Given the description of an element on the screen output the (x, y) to click on. 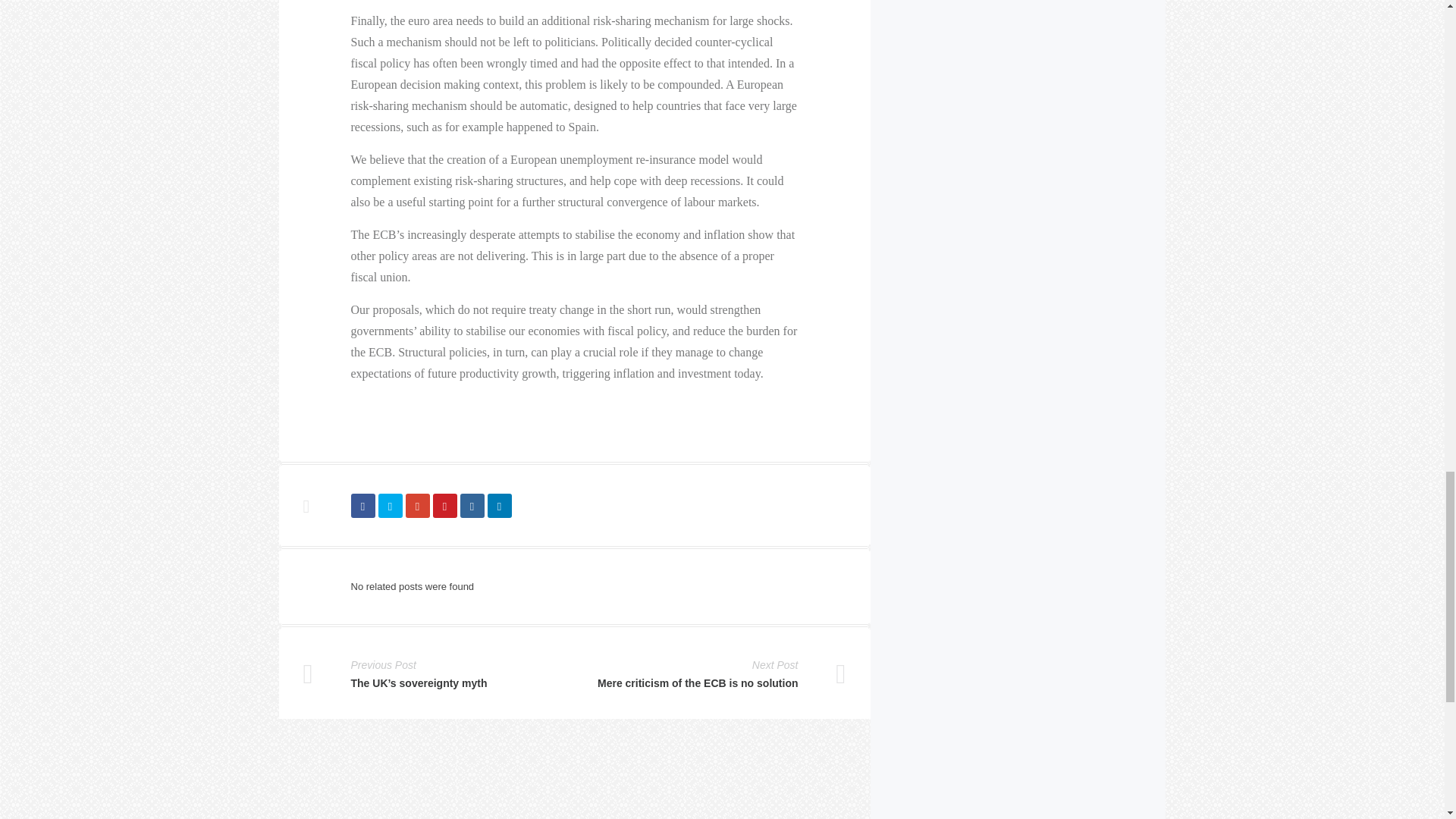
Mere criticism of the ECB is no solution (696, 683)
Share on Pinterest (444, 505)
Share on Reddit (471, 505)
Share on Facebook (362, 505)
Share on Linkedin (498, 505)
Share on Twitter (389, 505)
Share on Google Plus (416, 505)
